Given the description of an element on the screen output the (x, y) to click on. 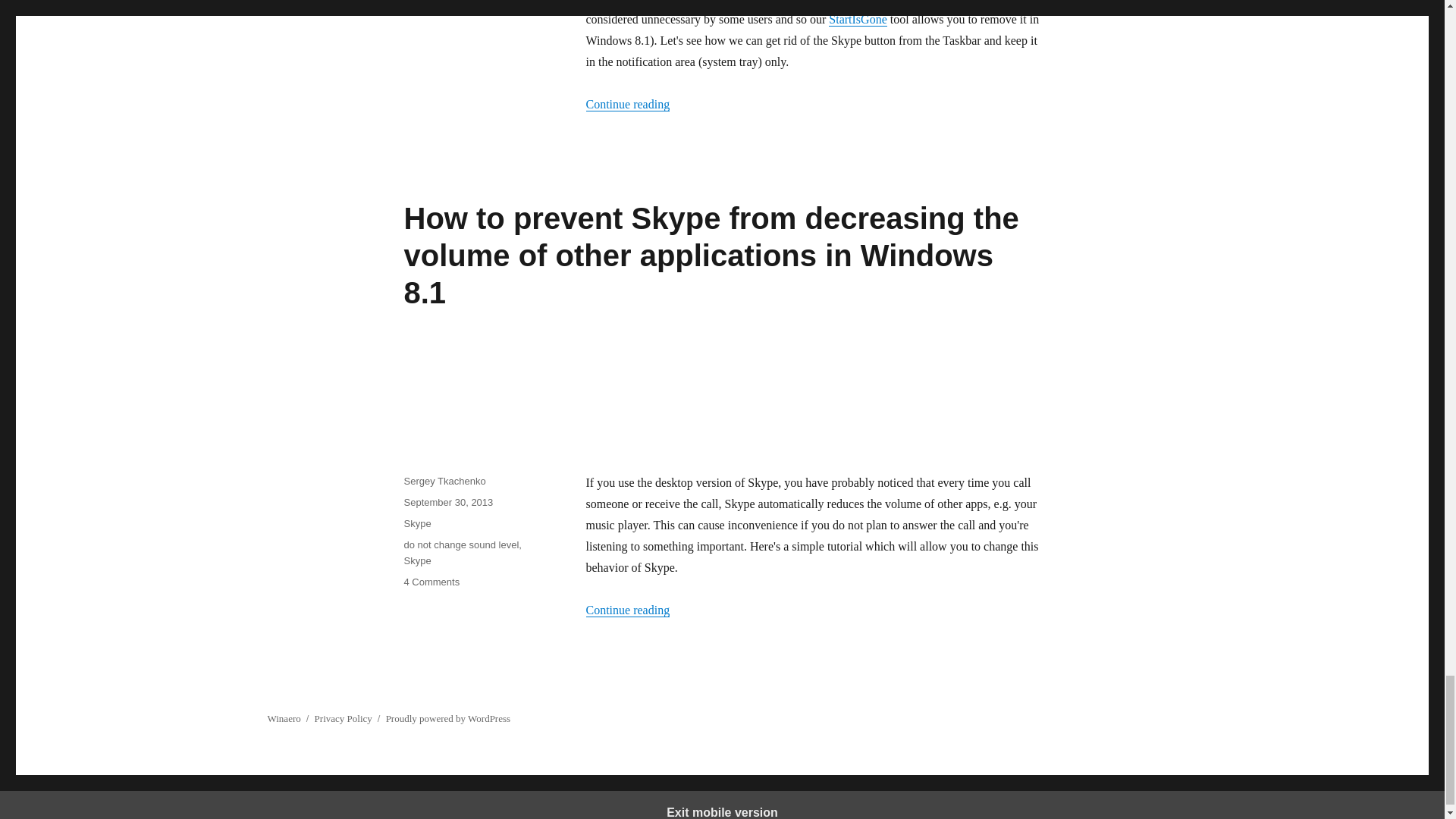
How to remove the Start button in Windows 8.1 (857, 19)
